Given the description of an element on the screen output the (x, y) to click on. 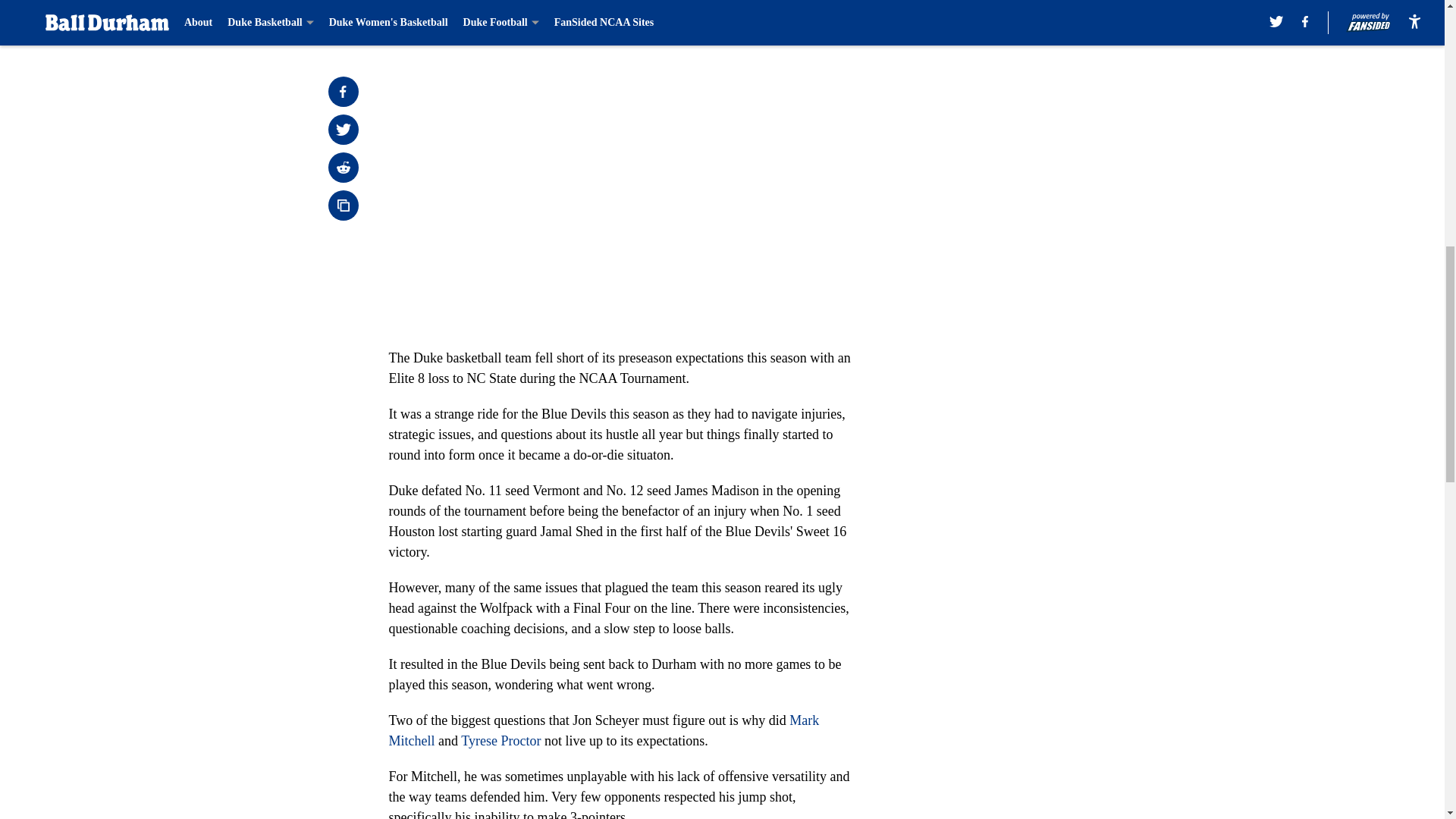
Mark Mitchell (603, 730)
Tyrese Proctor (500, 740)
